Given the description of an element on the screen output the (x, y) to click on. 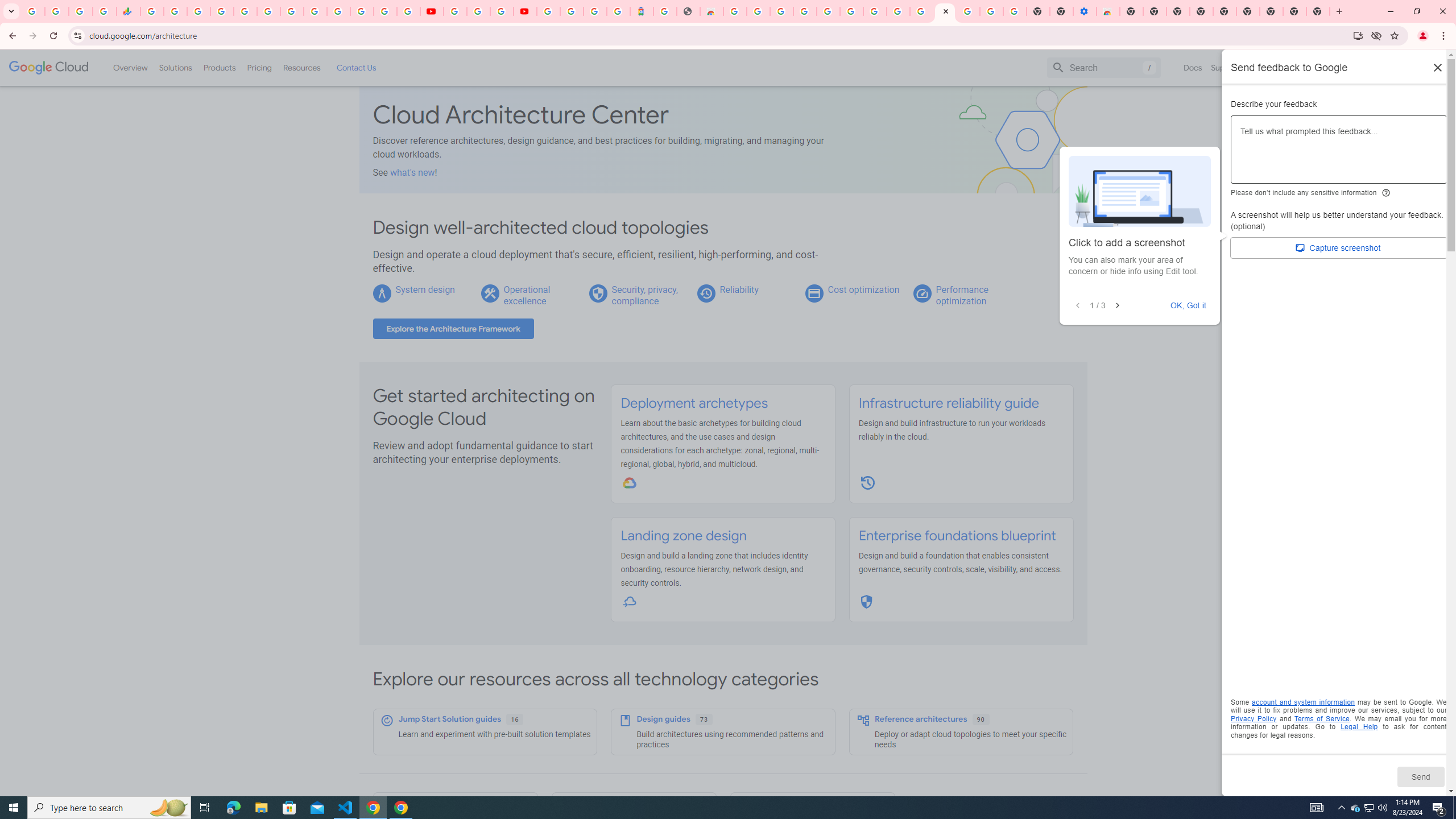
Sign in - Google Accounts (547, 11)
Next (1117, 305)
OK, Got it (1188, 305)
